Given the description of an element on the screen output the (x, y) to click on. 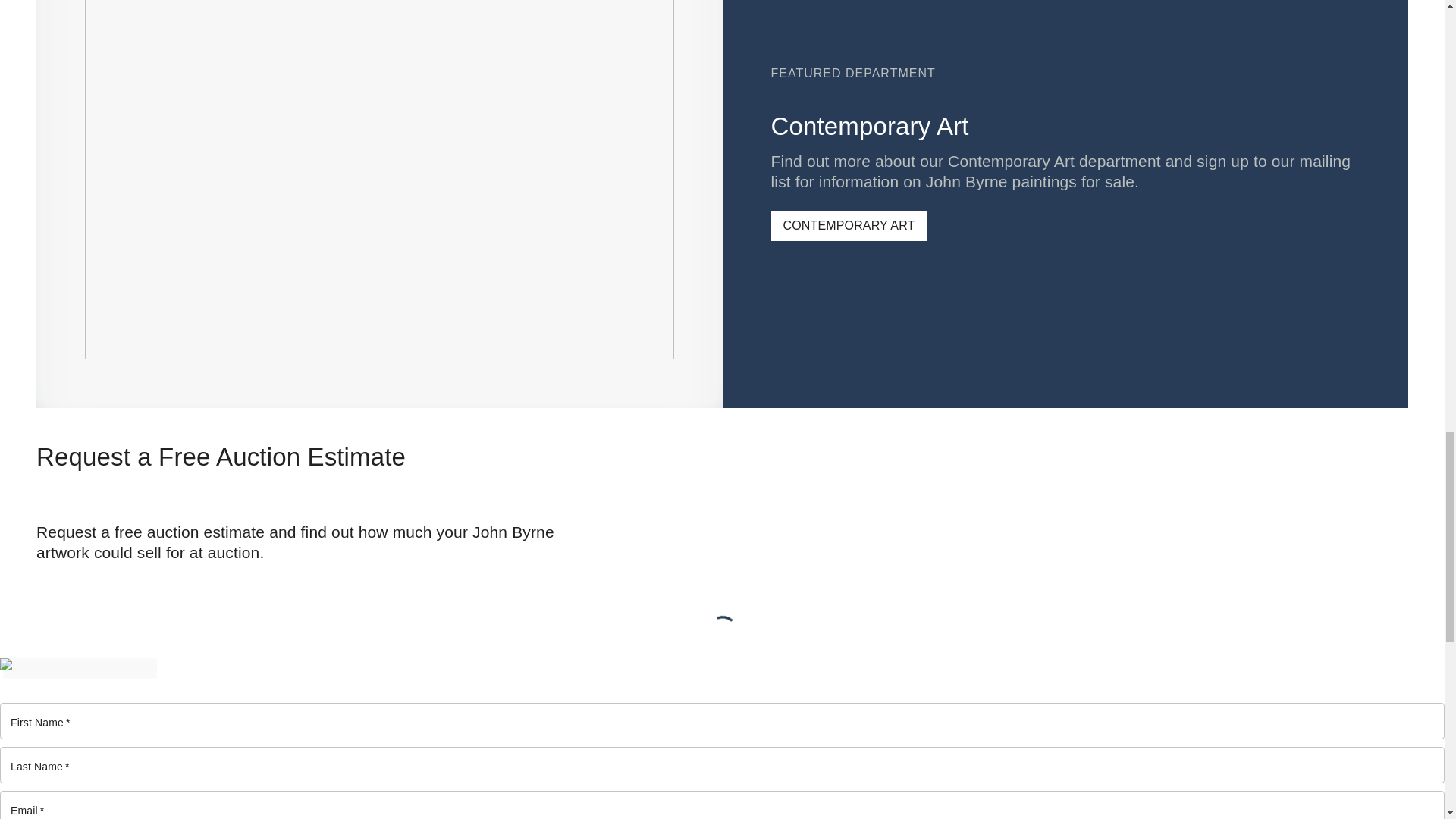
CONTEMPORARY ART (848, 225)
